Given the description of an element on the screen output the (x, y) to click on. 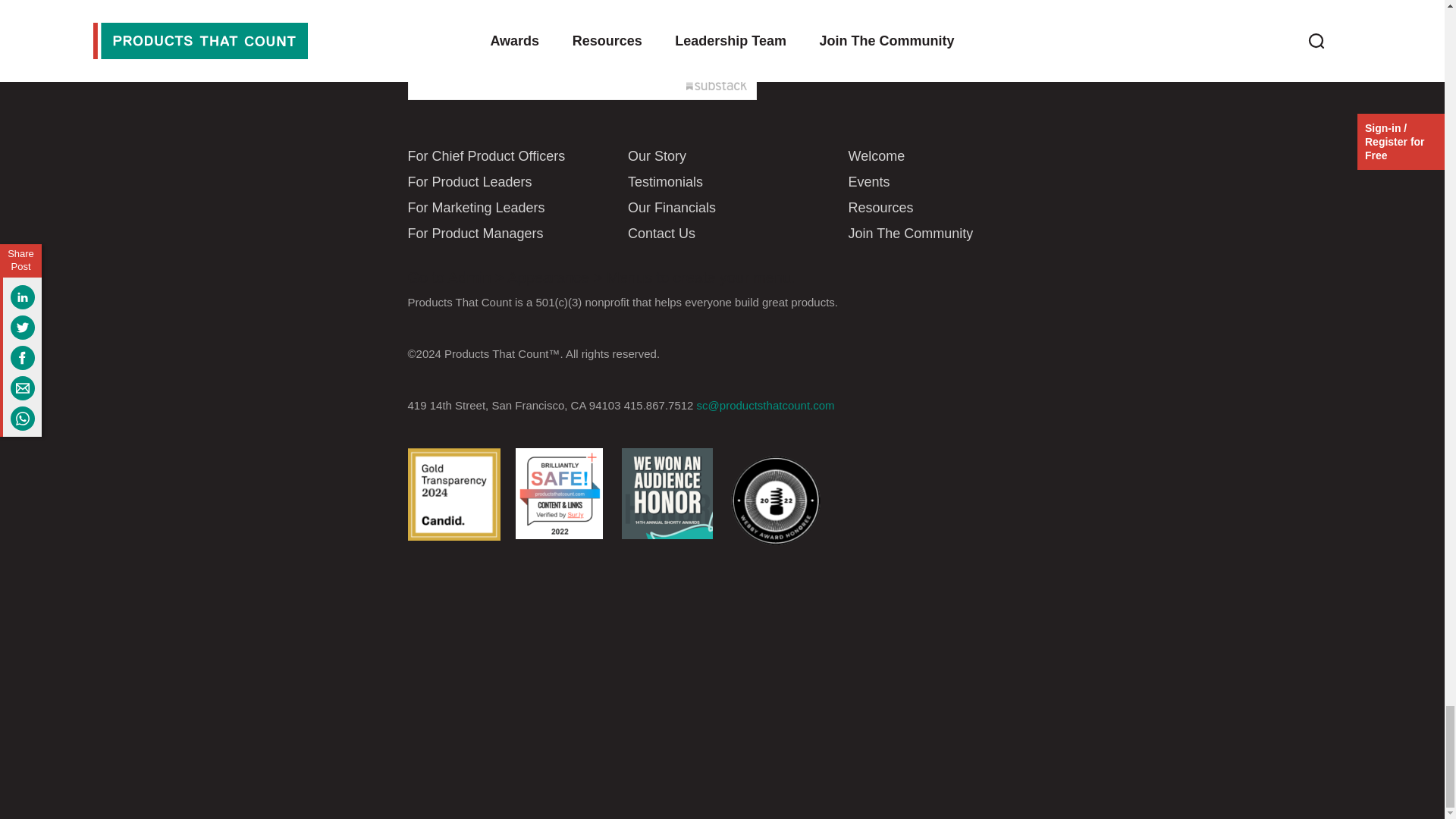
Gold Star (453, 493)
AudienceHonor Square (667, 492)
Sur ly badge (558, 492)
Site Badges bw webby honoree (775, 500)
